Given the description of an element on the screen output the (x, y) to click on. 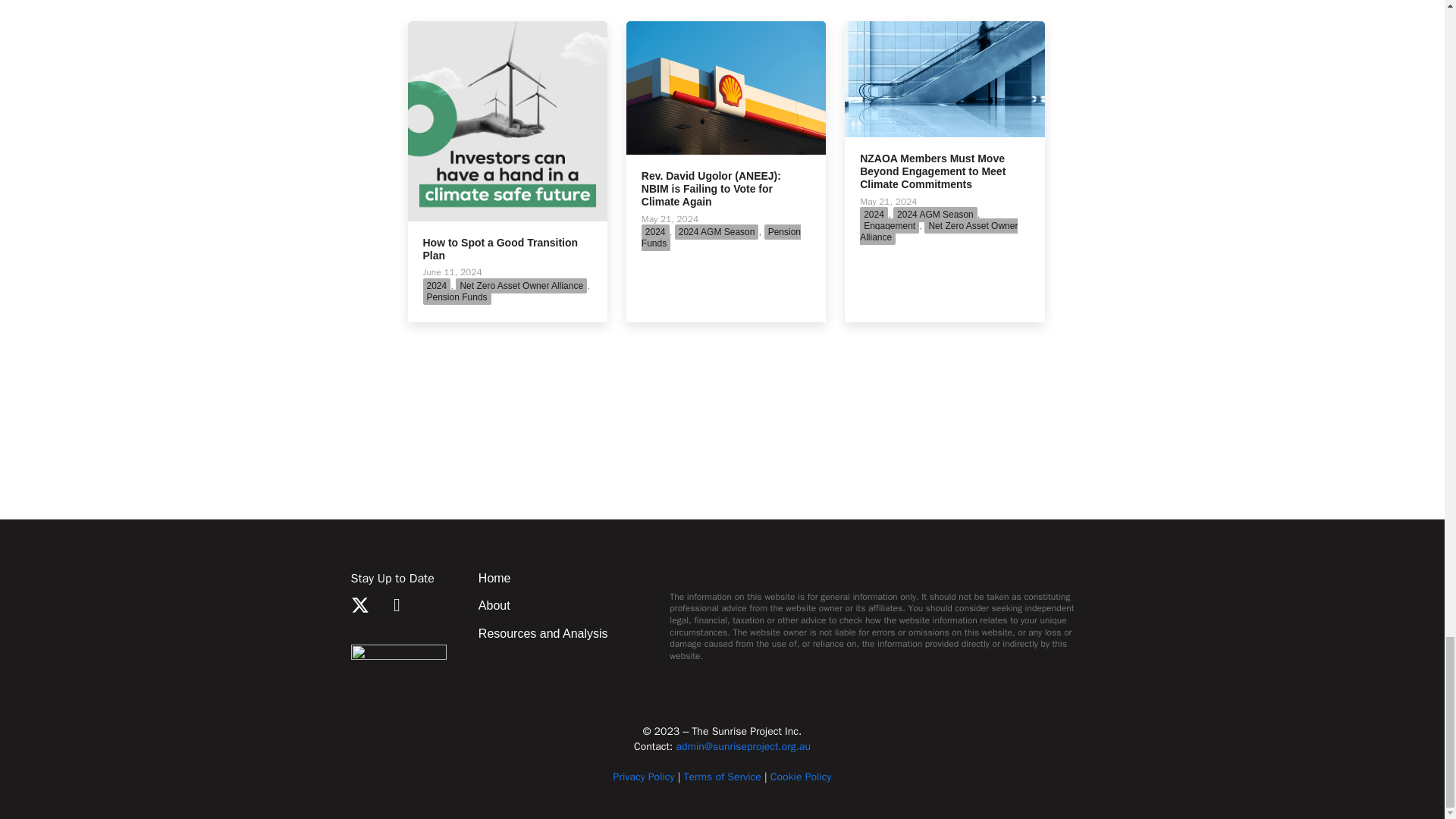
How to Spot a Good Transition Plan (507, 119)
2024 AGM Season (716, 231)
2024 (437, 285)
Net Zero Asset Owner Alliance (520, 285)
How to Spot a Good Transition Plan (500, 248)
2024 (655, 231)
Pension Funds (457, 296)
